Given the description of an element on the screen output the (x, y) to click on. 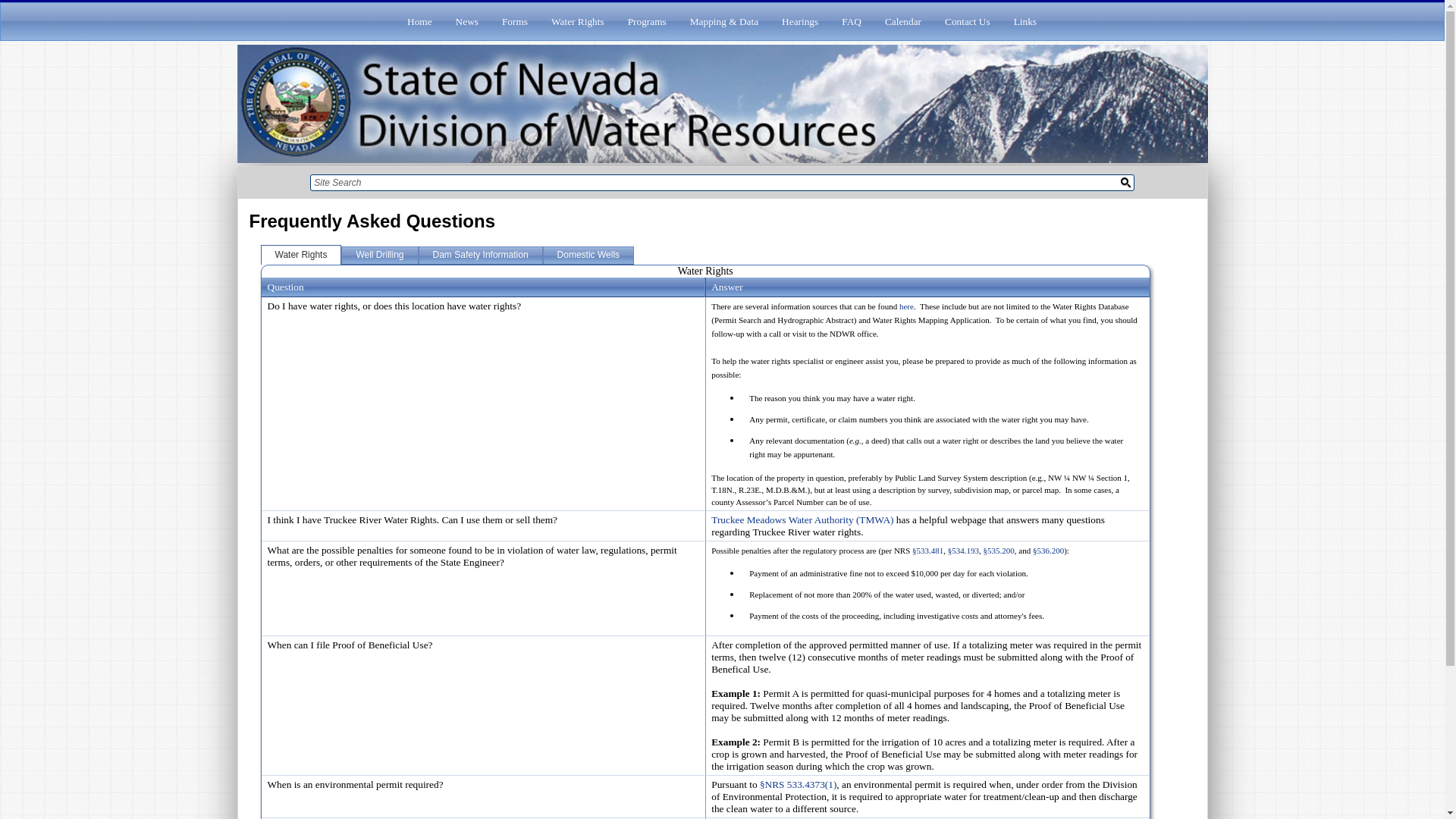
Dam Safety Information (481, 254)
Contact Us (968, 21)
Question (284, 286)
FAQ (851, 21)
Water Rights (576, 21)
Well Drilling (378, 254)
Water Rights (301, 254)
Site Search (708, 182)
Domestic Wells (588, 254)
here (906, 306)
Calendar (902, 21)
Forms (514, 21)
Programs (646, 21)
Home (419, 21)
Click here to sort (284, 286)
